Given the description of an element on the screen output the (x, y) to click on. 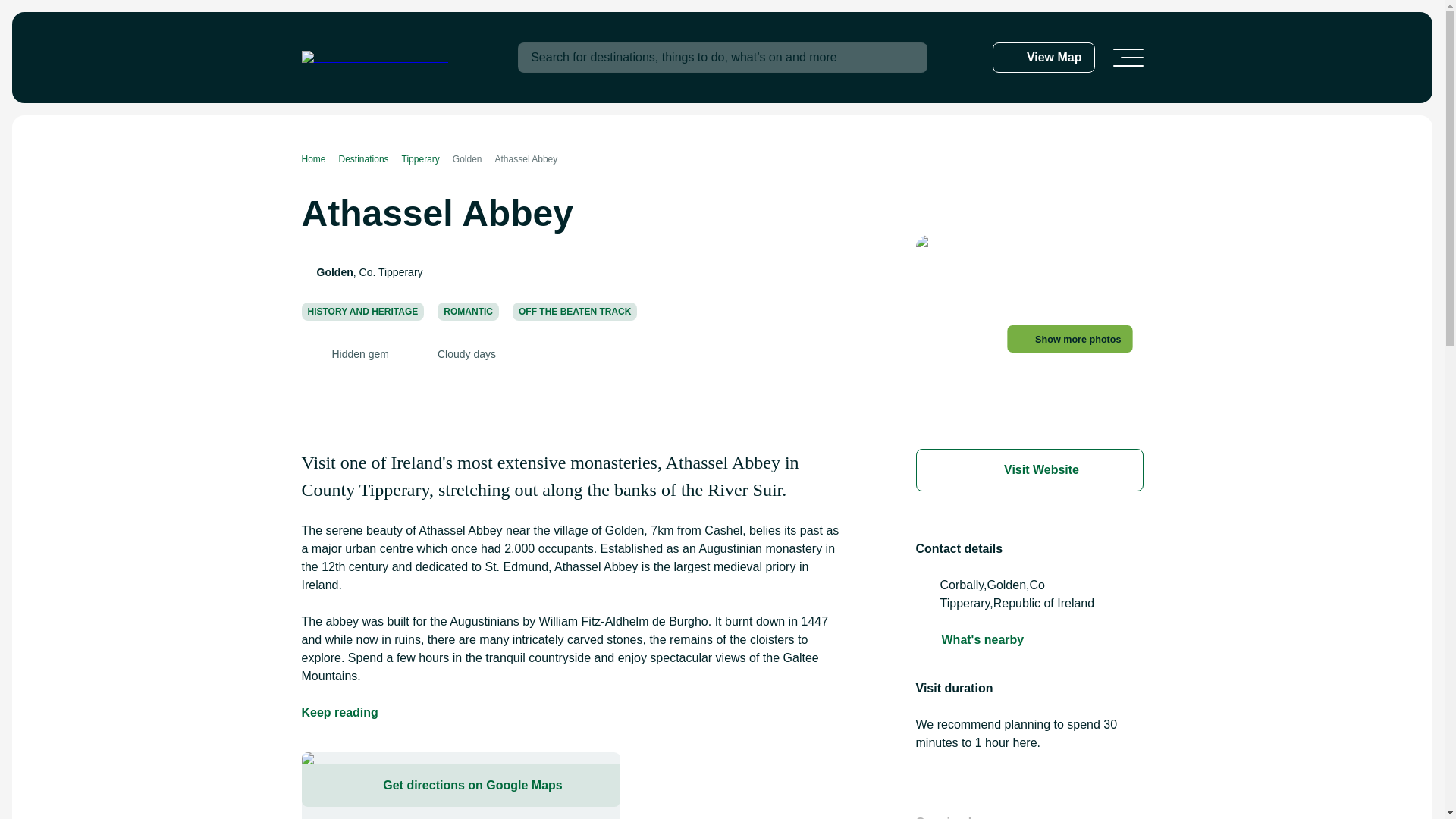
HISTORY AND HERITAGE (363, 311)
Get directions on Google Maps (460, 785)
Click to go back to the homepage (374, 57)
Home (320, 159)
Keep reading (339, 712)
Tipperary (426, 159)
Get directions on Google Maps (460, 785)
ROMANTIC (468, 311)
OFF THE BEATEN TRACK (574, 311)
Destinations (370, 159)
